Given the description of an element on the screen output the (x, y) to click on. 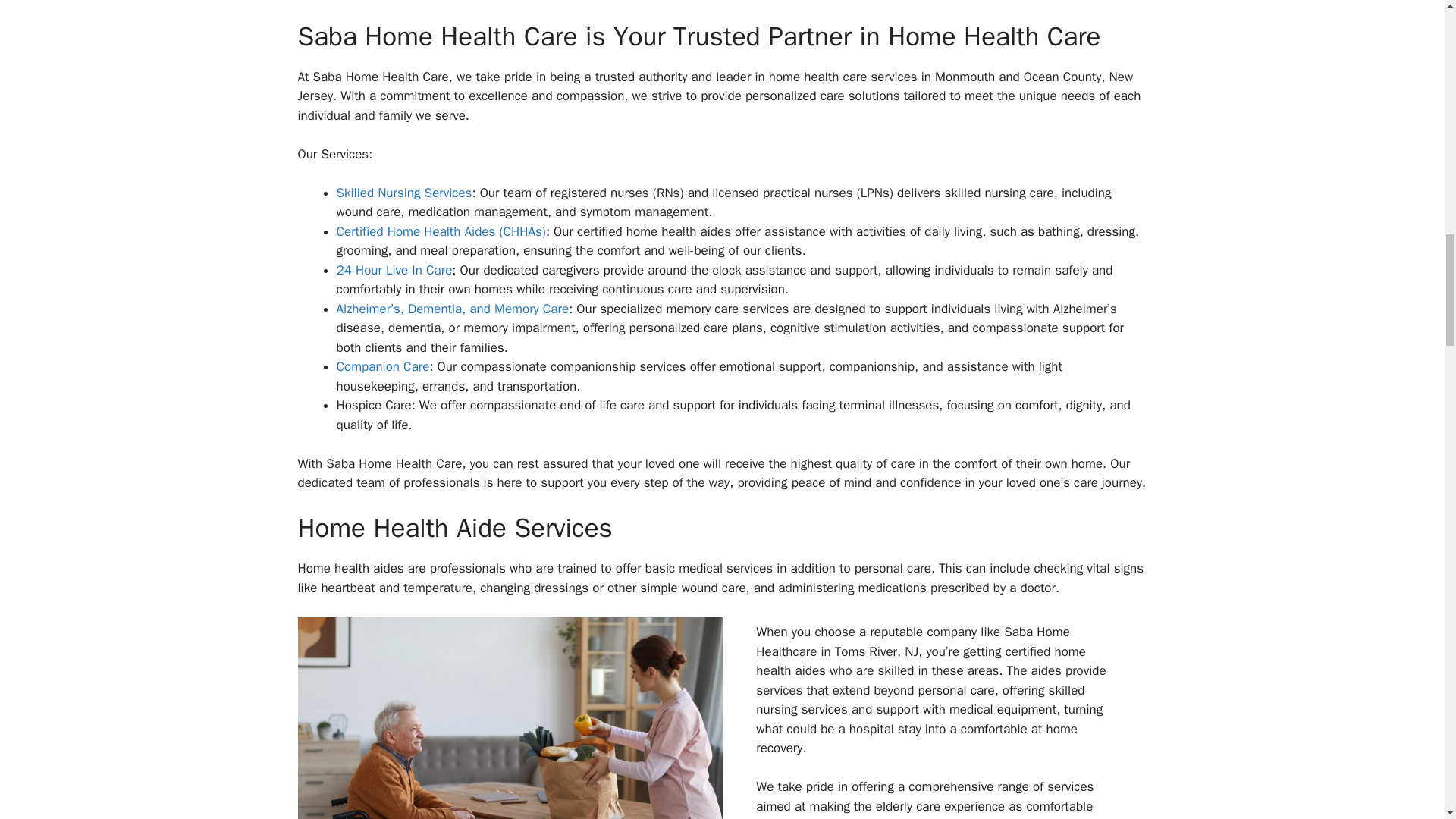
Companion Care (382, 366)
Skilled Nursing Services (403, 192)
24-Hour Live-In Care (394, 270)
